Given the description of an element on the screen output the (x, y) to click on. 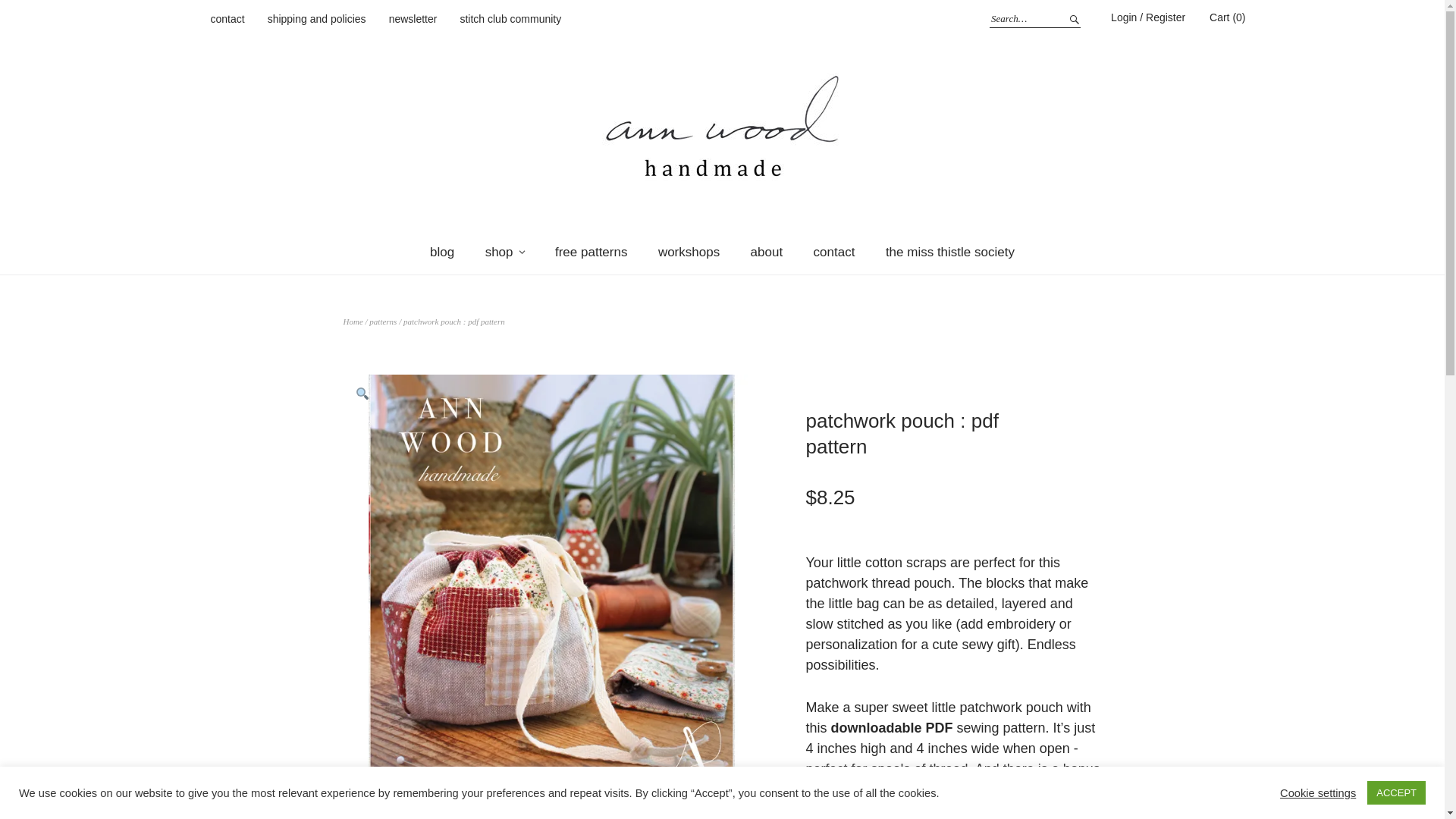
Home (352, 320)
Search (1072, 18)
the miss thistle society (949, 252)
View cart (1226, 17)
about (766, 252)
stitch club community (510, 19)
free patterns (590, 252)
contact (227, 19)
blog (441, 252)
contact (834, 252)
workshops (689, 252)
shipping and policies (316, 19)
newsletter (413, 19)
patterns (382, 320)
Search (1072, 18)
